Given the description of an element on the screen output the (x, y) to click on. 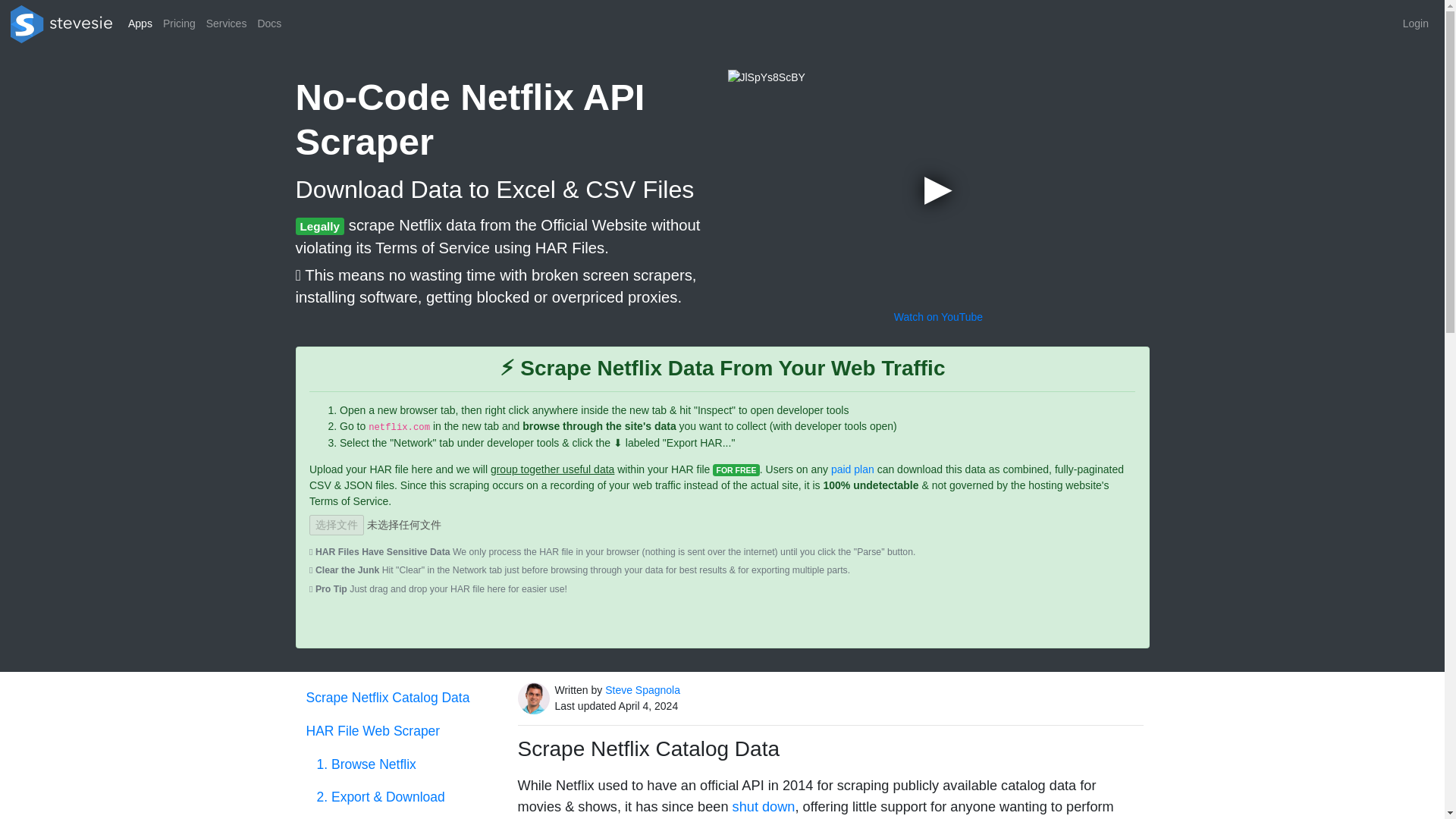
Services (225, 23)
Steve Spagnola (642, 689)
Stevesie Data (61, 23)
Steve Spagnola (532, 698)
Apps (139, 23)
shut down (763, 806)
Scrape Netflix Catalog Data (399, 697)
paid plan (853, 469)
Reviews Widget (721, 622)
1. Browse Netflix (405, 764)
